Given the description of an element on the screen output the (x, y) to click on. 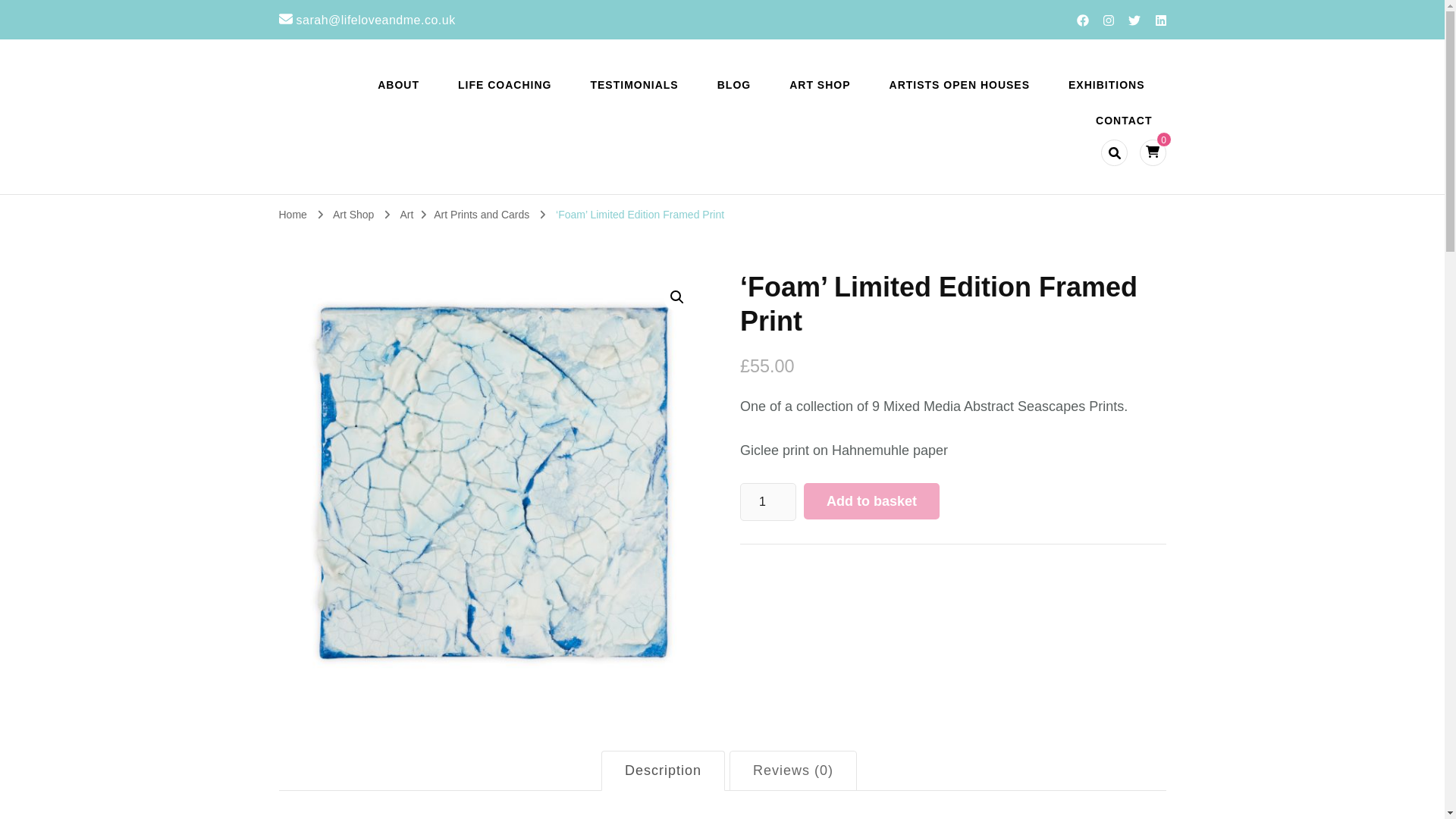
Home (293, 214)
Add to basket (871, 501)
ART SHOP (819, 85)
BLOG (733, 85)
View your shopping cart (1153, 151)
Art Prints and Cards (482, 214)
EXHIBITIONS (1105, 85)
Art (405, 214)
LIFE COACHING (504, 85)
ARTISTS OPEN HOUSES (959, 85)
ABOUT (398, 85)
TESTIMONIALS (633, 85)
1 (767, 501)
CONTACT (1123, 121)
